Given the description of an element on the screen output the (x, y) to click on. 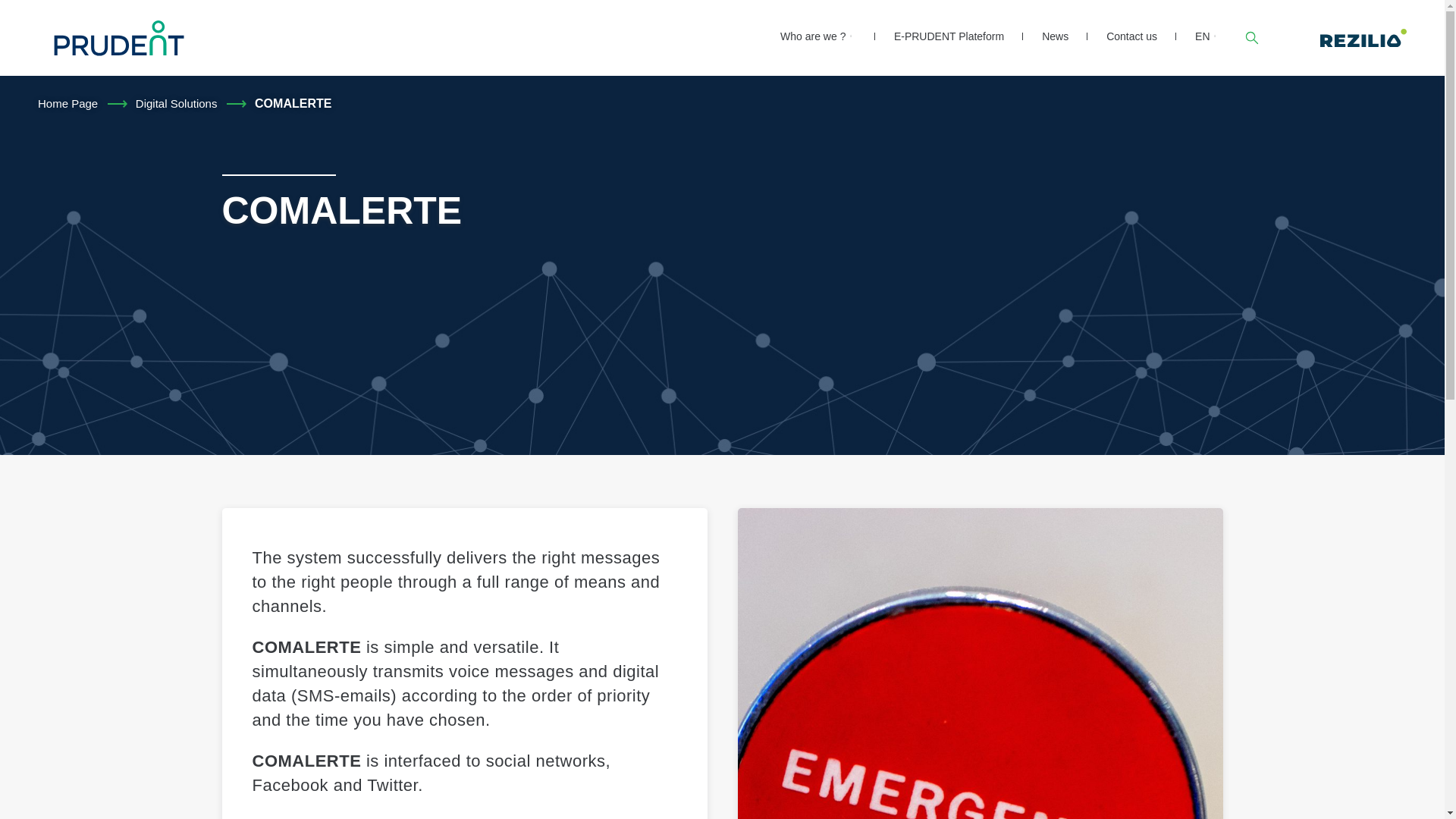
News (1055, 36)
Contact us (1131, 36)
Home Page (67, 103)
E-PRUDENT Plateform (948, 36)
EN (1202, 36)
Digital Solutions (175, 103)
EN (1202, 36)
Who are we ? (812, 36)
